Given the description of an element on the screen output the (x, y) to click on. 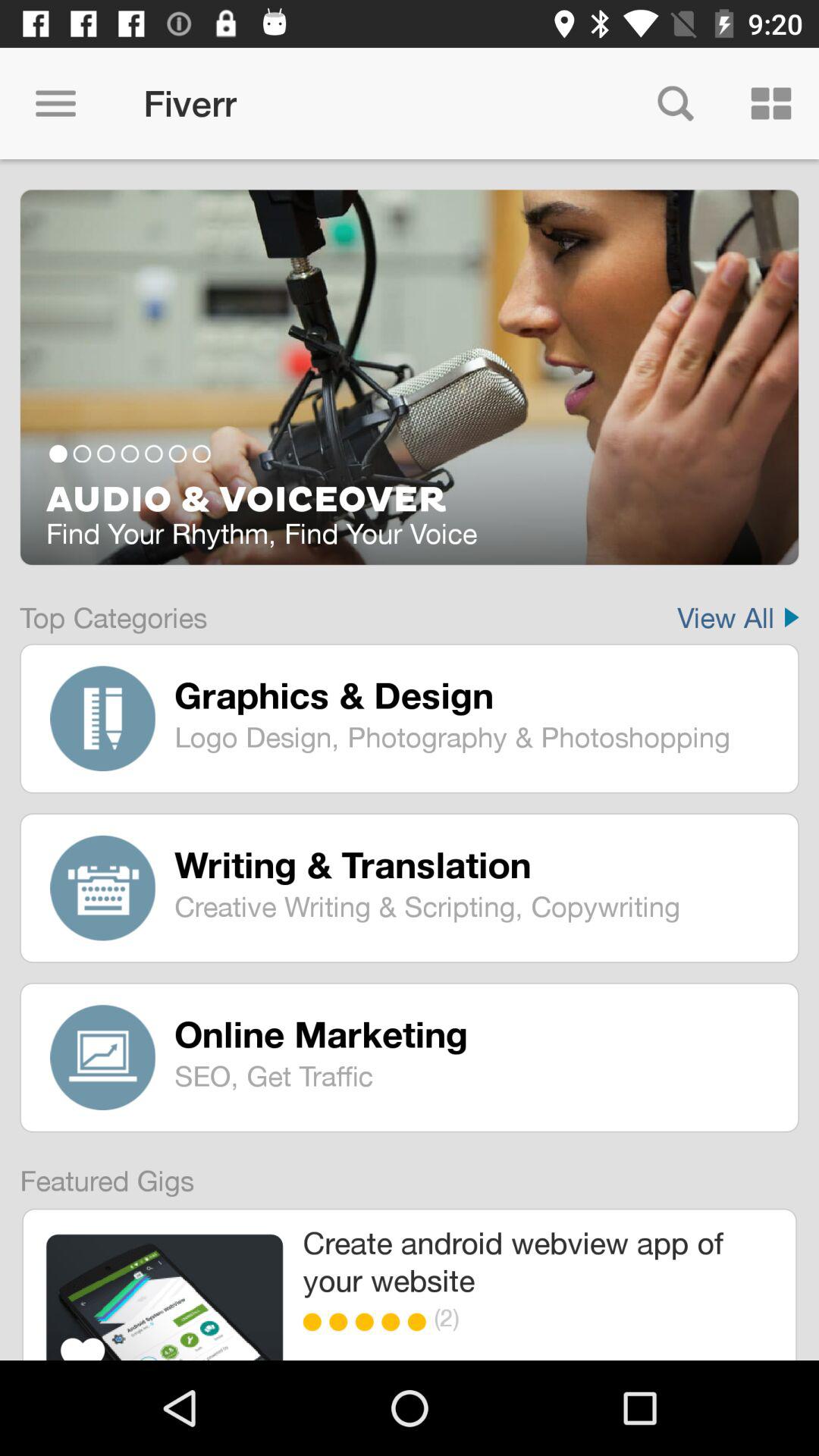
scroll until the logo design photography item (475, 736)
